Given the description of an element on the screen output the (x, y) to click on. 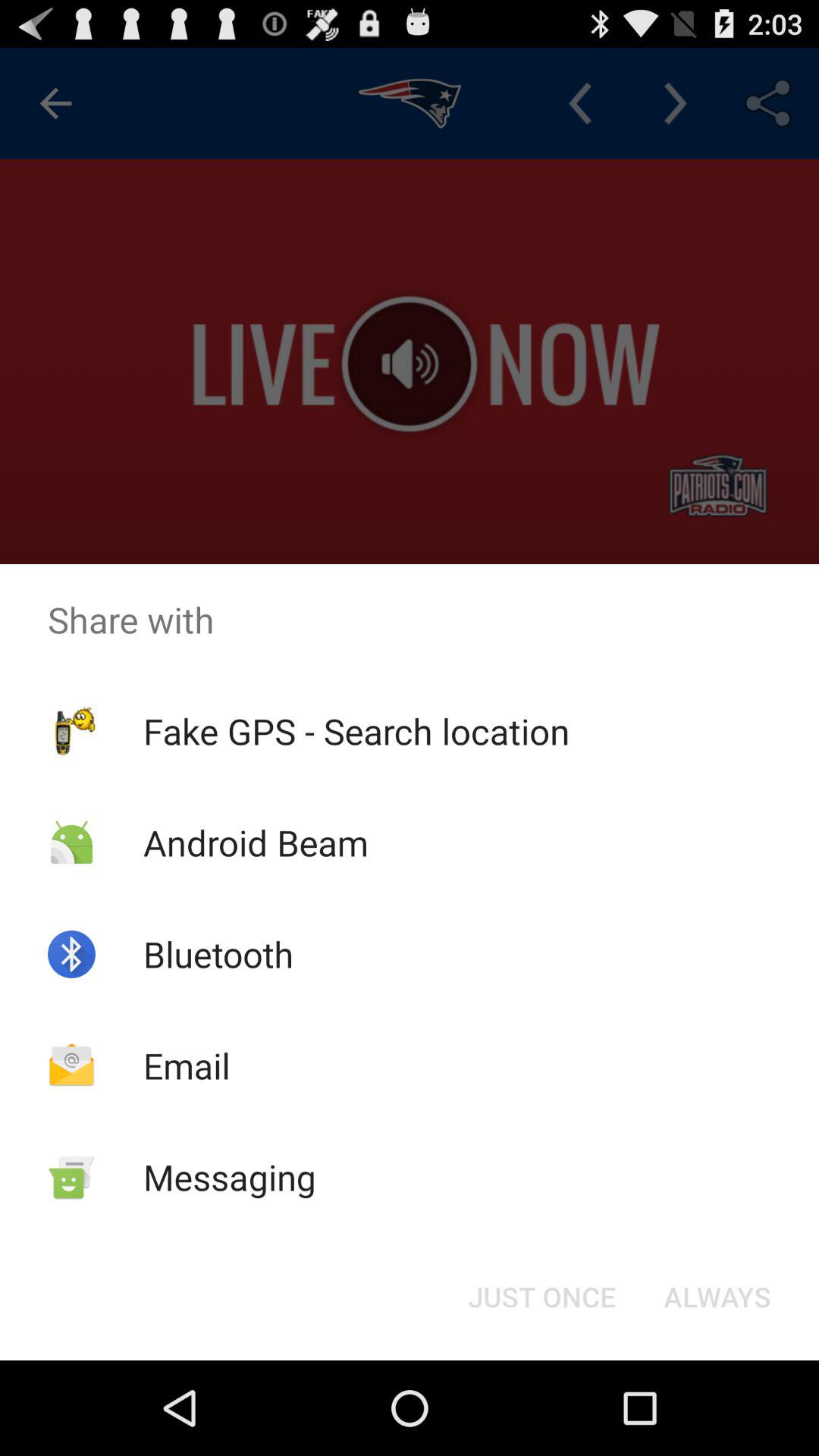
press the email app (186, 1065)
